Given the description of an element on the screen output the (x, y) to click on. 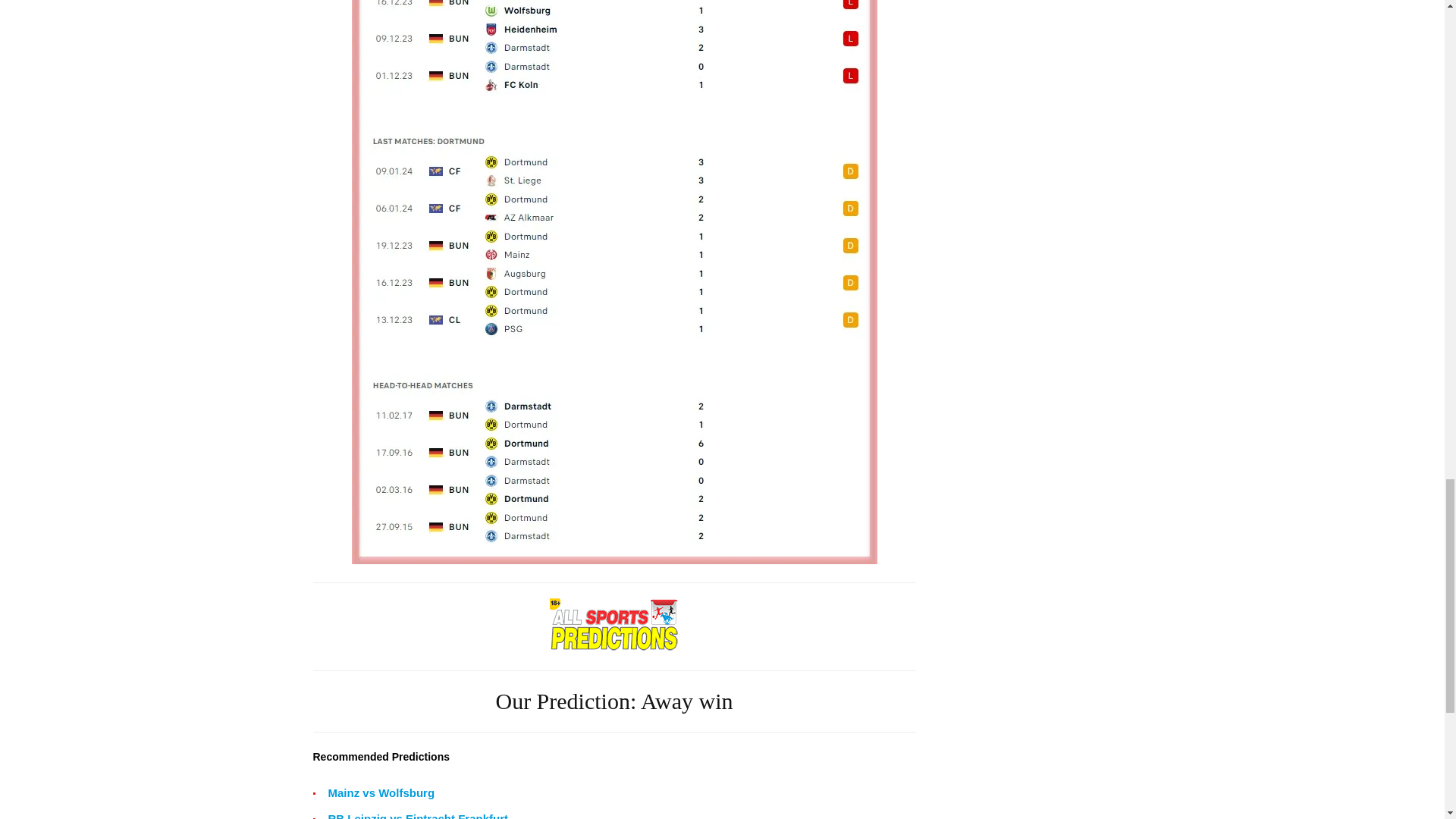
RB Leipzig vs Eintracht Frankfurt (417, 814)
Mainz vs Wolfsburg (380, 792)
